Given the description of an element on the screen output the (x, y) to click on. 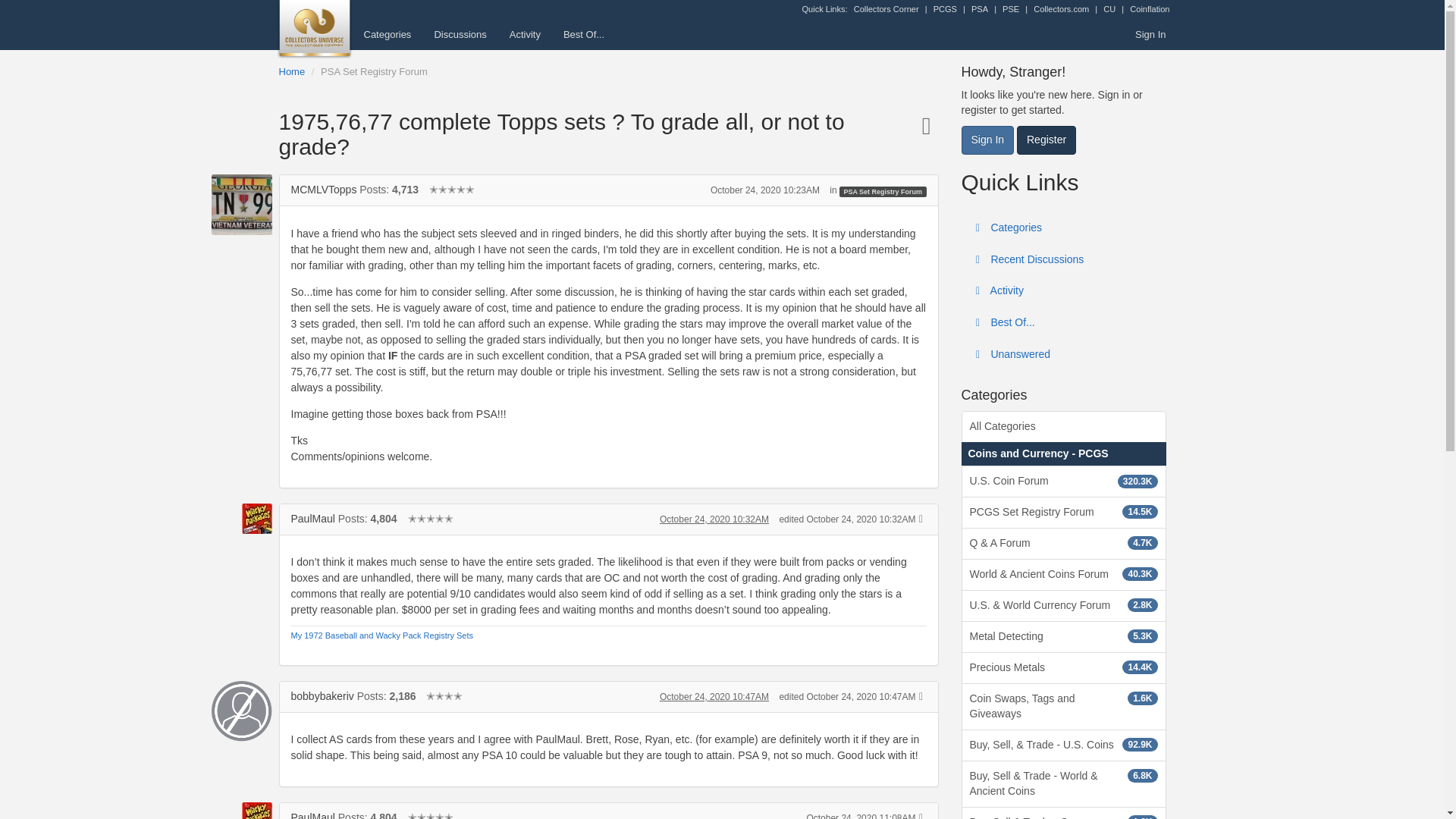
Coinflation - Measuring the Metal Value of Coins (1149, 8)
Edited October 24, 2020 10:32AM by PaulMaul. (846, 519)
Expert Collector (444, 695)
My 1972 Baseball and Wacky Pack Registry Sets (382, 634)
PCGS (944, 8)
PSA Set Registry Forum (374, 71)
Home (292, 71)
Master Collector (429, 518)
PSE (1011, 8)
October 24, 2020 10:47AM (713, 696)
October 24, 2020 10:47AM (713, 696)
Collectors Corner (885, 8)
MCMLVTopps (240, 204)
Collectors.com (1061, 8)
Master Collector (451, 189)
